Given the description of an element on the screen output the (x, y) to click on. 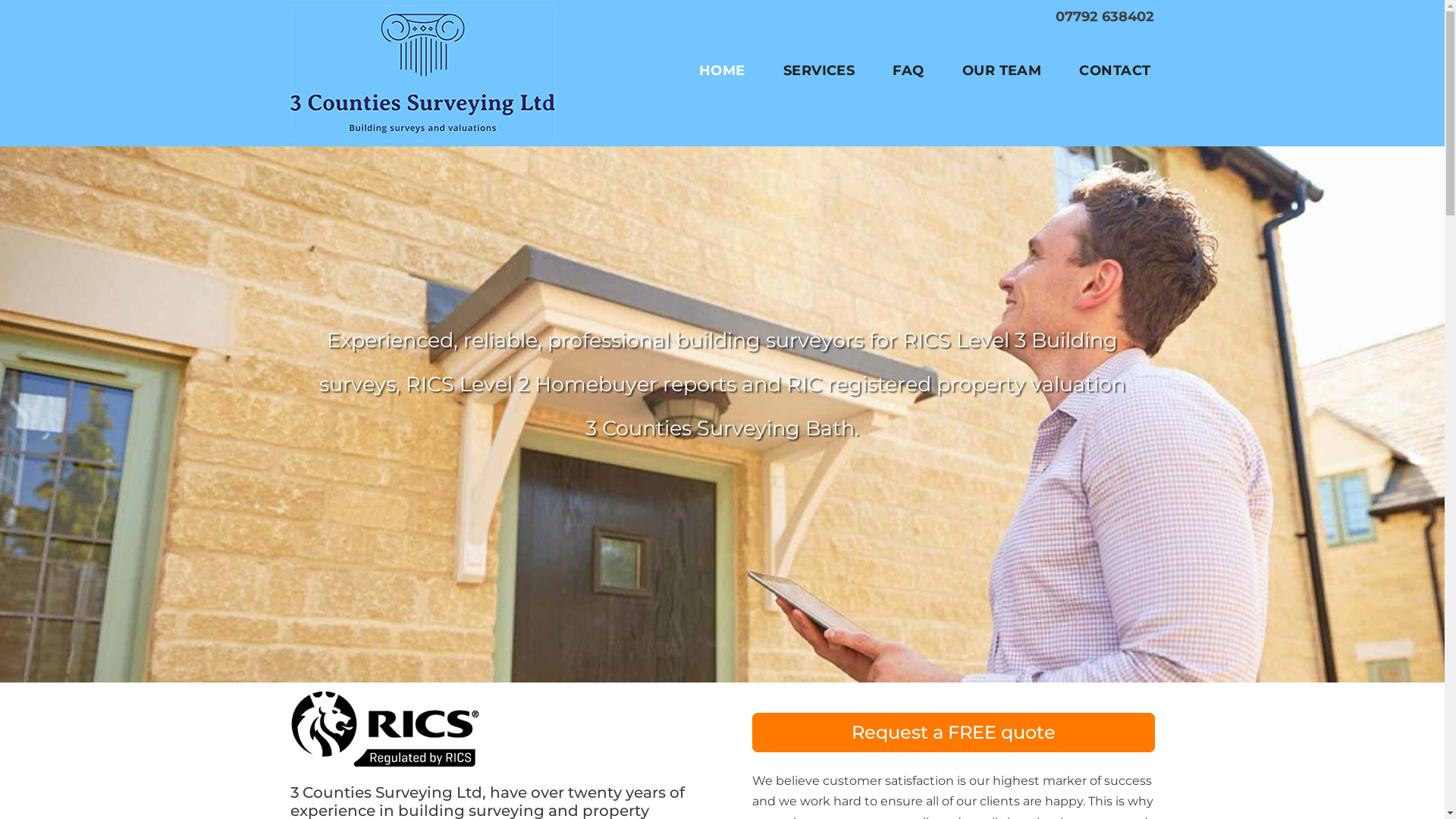
FAQ Element type: text (907, 70)
CONTACT Element type: text (1114, 70)
SERVICES Element type: text (819, 70)
OUR TEAM Element type: text (1001, 70)
HOME Element type: text (722, 70)
Request a FREE quote Element type: text (953, 732)
